Given the description of an element on the screen output the (x, y) to click on. 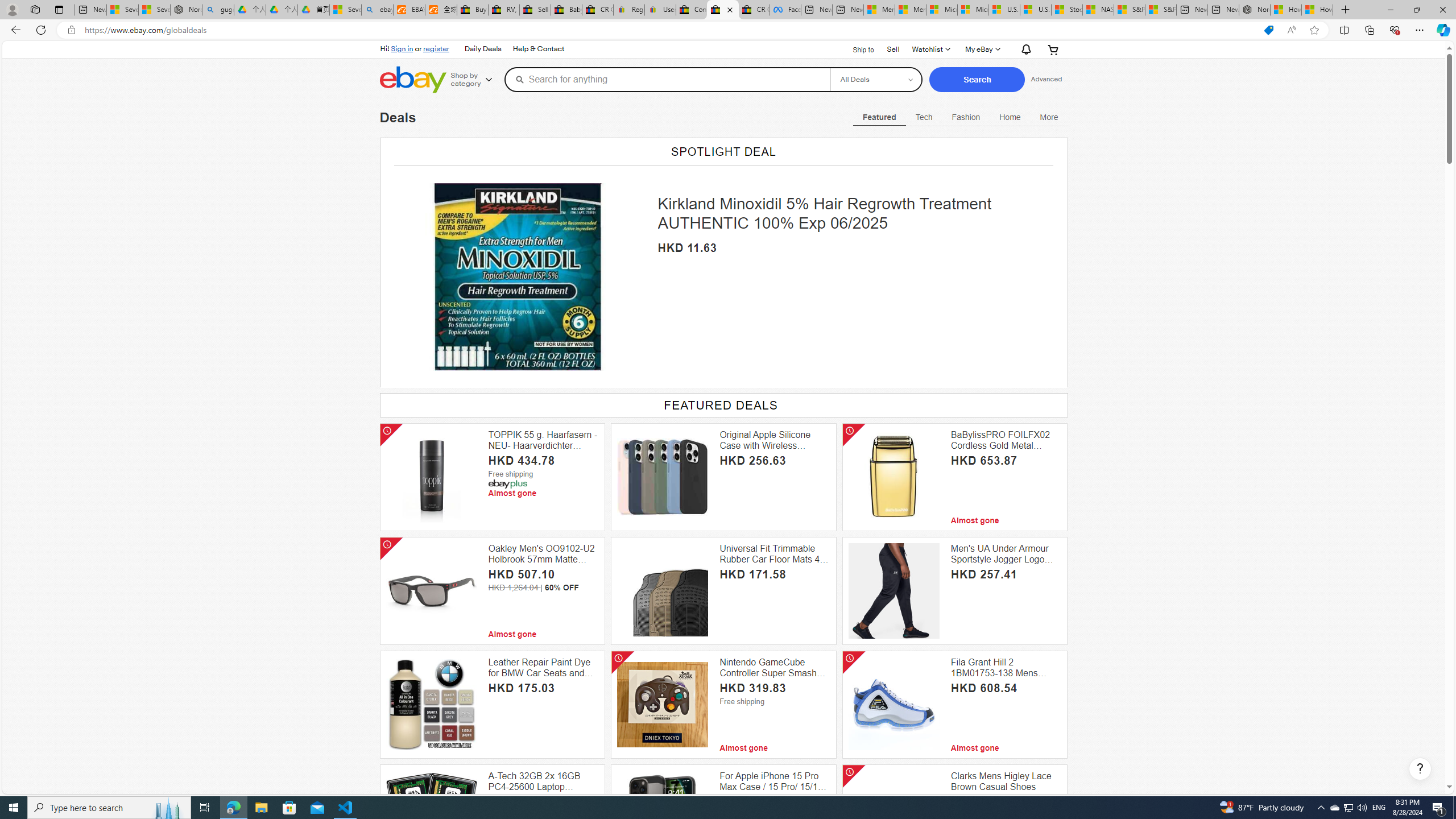
Daily Deals (482, 49)
Help, opens dialogs (1420, 768)
Ship to (855, 49)
Shop by category (474, 79)
Help & Contact (538, 49)
View site information (70, 29)
Daily Deals (483, 49)
Add this page to favorites (Ctrl+D) (1314, 29)
eBay Home (413, 79)
eBay Home (413, 79)
Tab actions menu (58, 9)
New Tab (1346, 9)
